Given the description of an element on the screen output the (x, y) to click on. 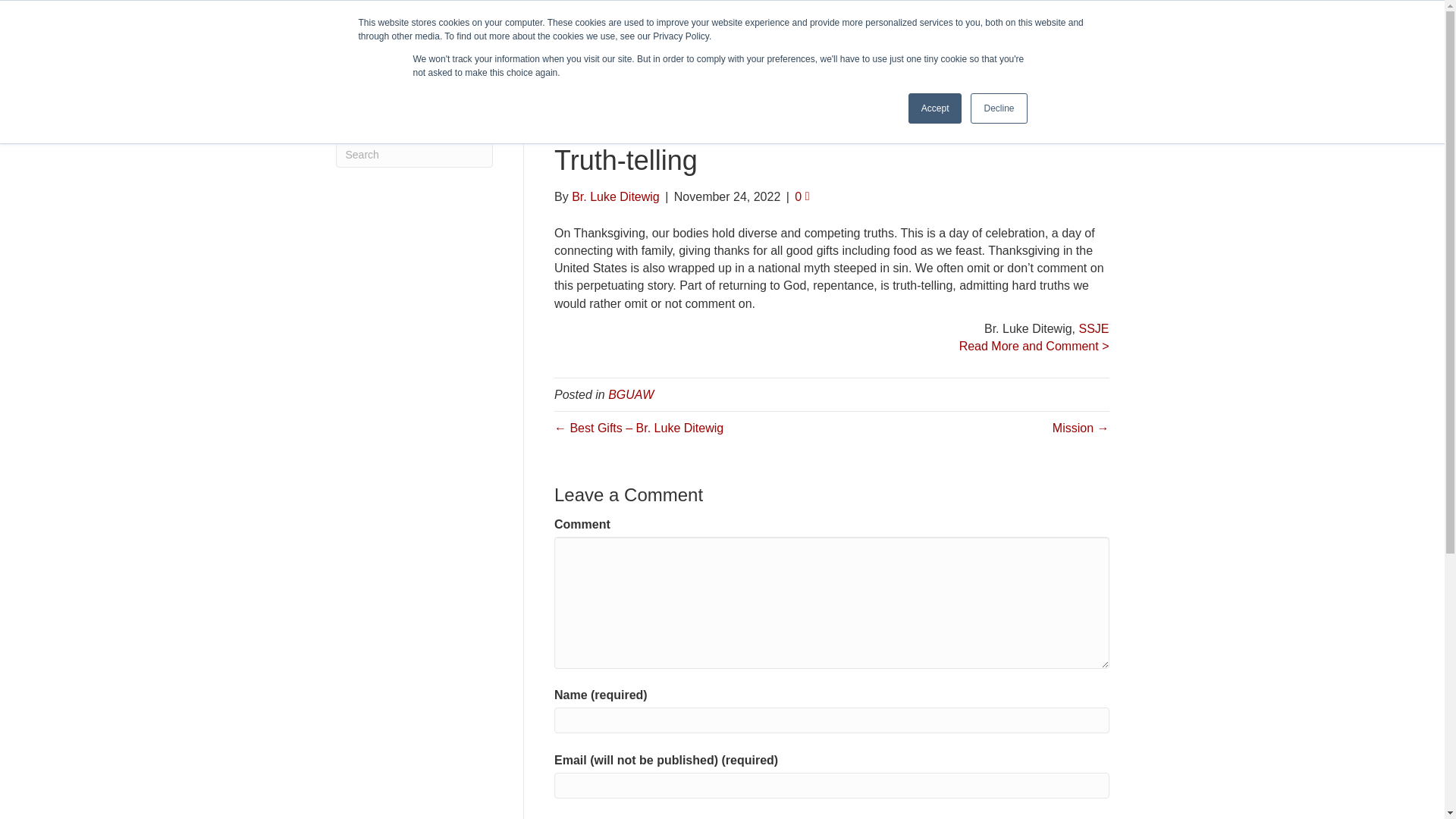
Home (682, 69)
Daily Word (1028, 13)
Type and press Enter to search. (413, 154)
Accept (935, 108)
Decline (998, 108)
Retreats (899, 69)
SSJE (457, 69)
Sermons (969, 13)
Subscribe (1088, 13)
Good News (831, 69)
Livestream (912, 13)
